Given the description of an element on the screen output the (x, y) to click on. 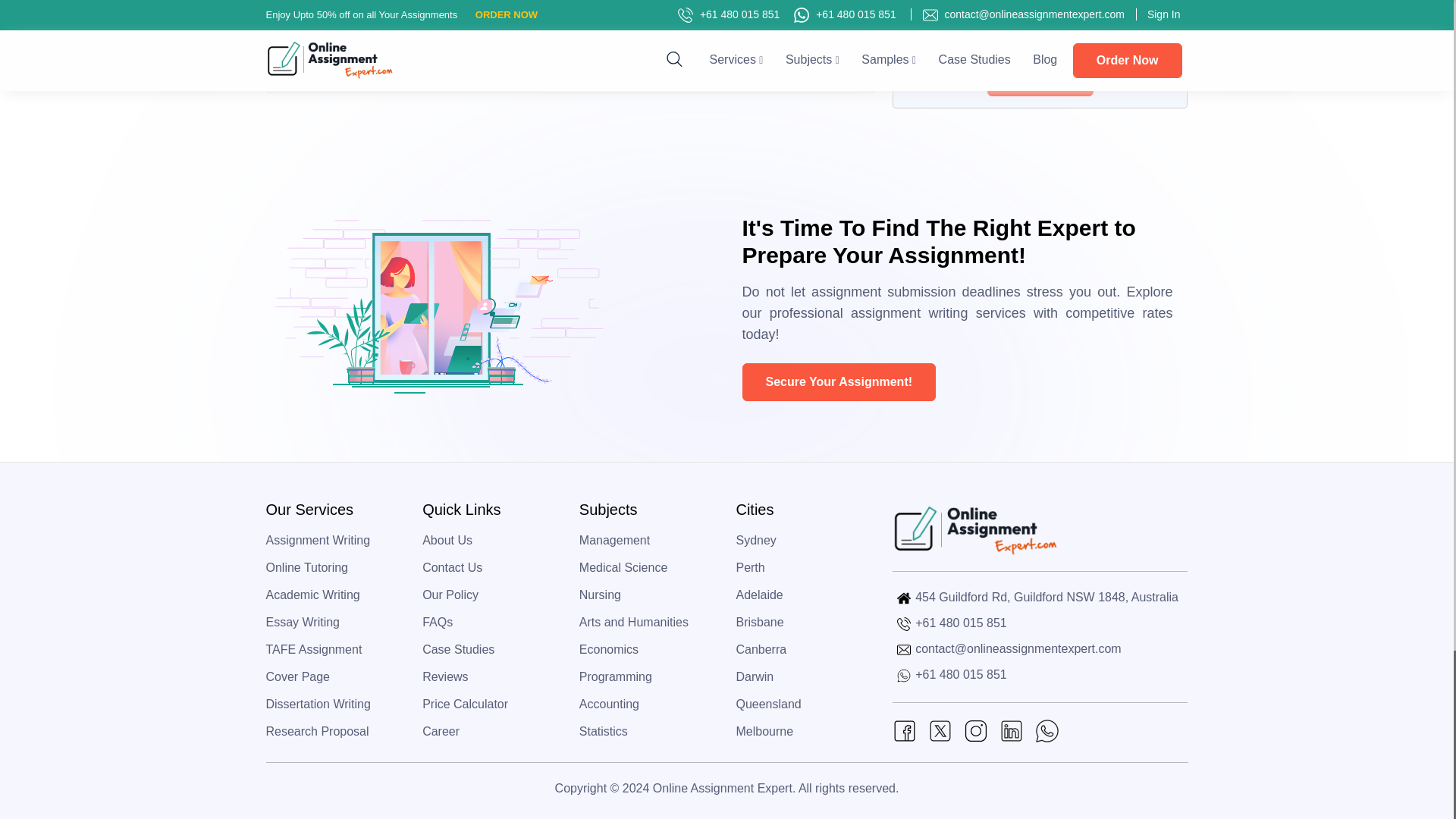
Follow us on Instagram (975, 729)
Follow us on Facebook (904, 729)
Best Assignment Help Order (676, 37)
Follow us on LinkedIn (1010, 729)
Follow us on Twitter (940, 729)
Follow us on WhatsApp (1047, 729)
